Given the description of an element on the screen output the (x, y) to click on. 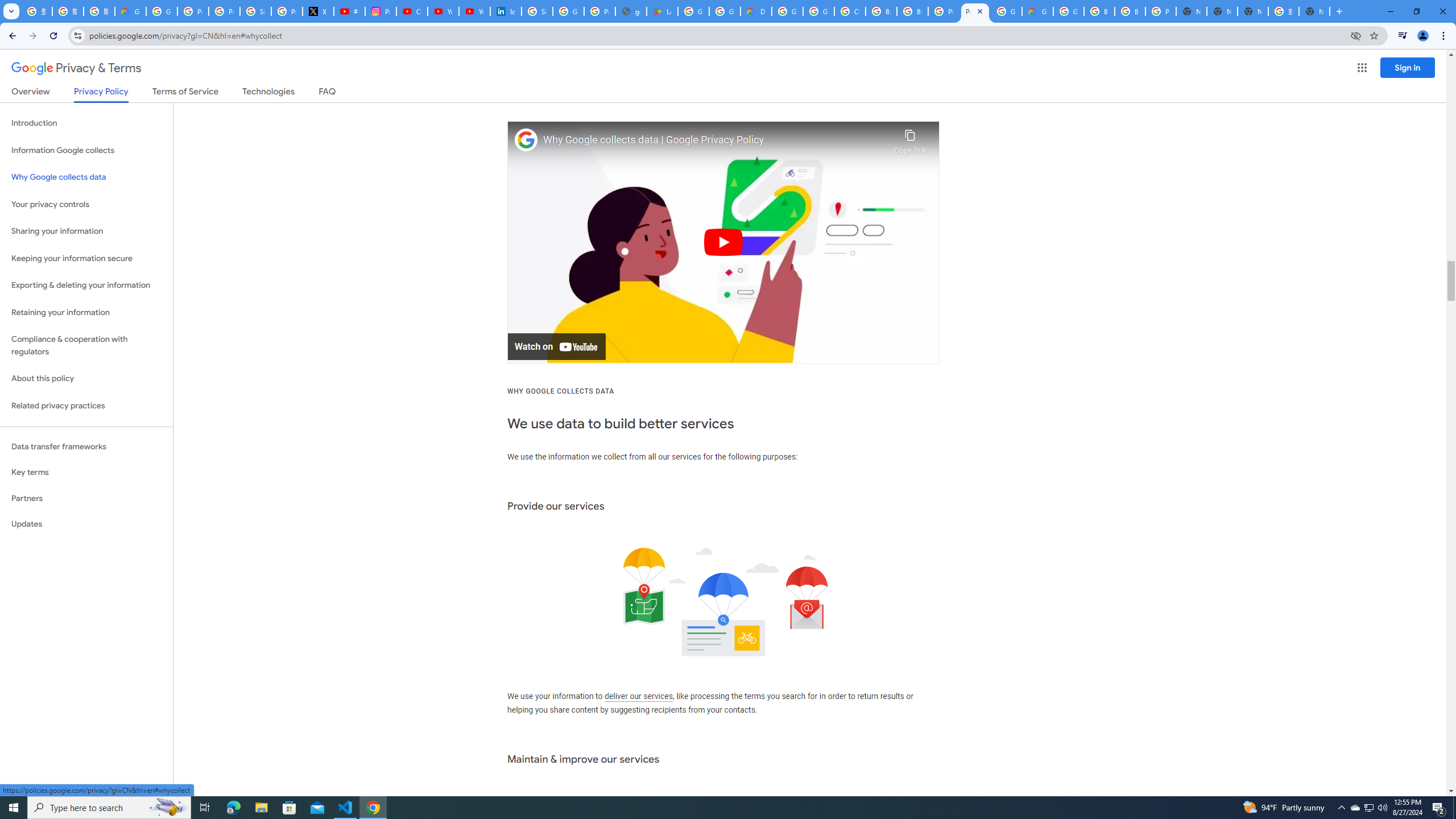
Introduction (86, 122)
Terms of Service (184, 93)
About this policy (86, 379)
Browse Chrome as a guest - Computer - Google Chrome Help (1098, 11)
Google Cloud Platform (787, 11)
Google Cloud Platform (1068, 11)
deliver our services (638, 696)
Copy link (909, 139)
Google Workspace - Specific Terms (724, 11)
